Given the description of an element on the screen output the (x, y) to click on. 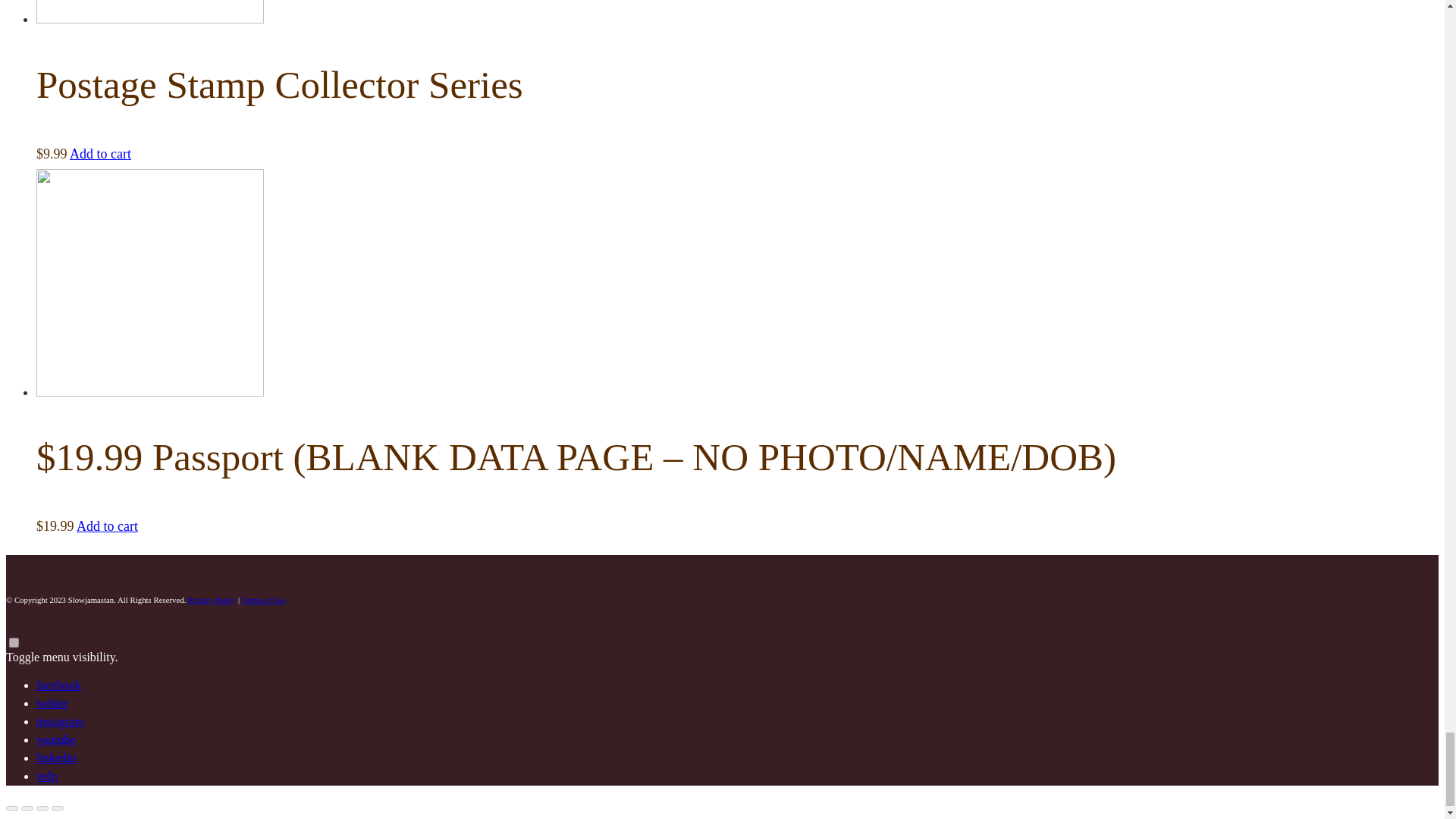
on (13, 642)
